Given the description of an element on the screen output the (x, y) to click on. 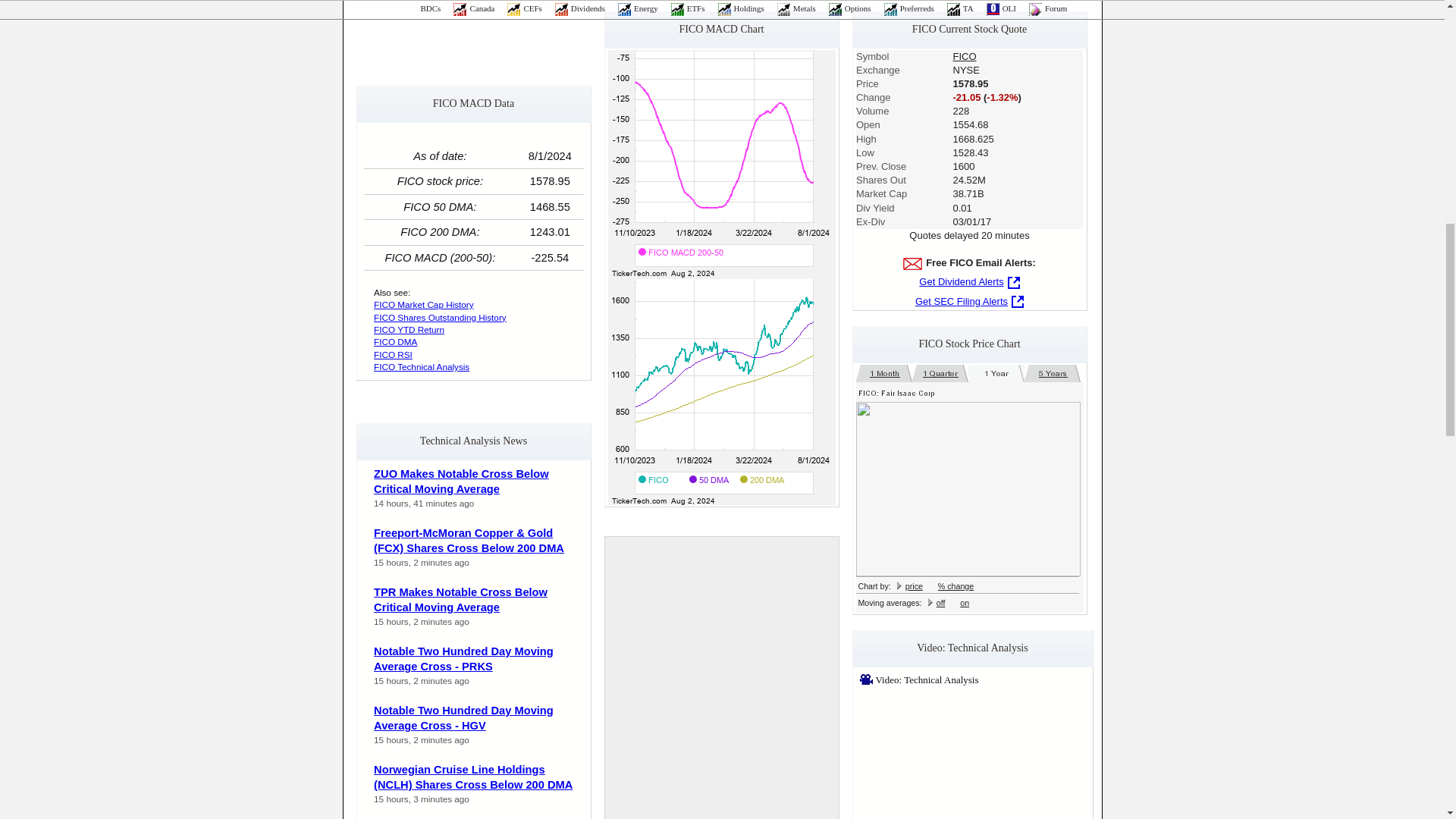
FICO Shares Outstanding History (440, 317)
TPR Makes Notable Cross Below Critical Moving Average (460, 600)
Notable Two Hundred Day Moving Average Cross - PRKS (463, 659)
FICO Technical Analysis (421, 366)
Notable Two Hundred Day Moving Average Cross - HGV (463, 718)
FICO DMA (395, 341)
ZUO Makes Notable Cross Below Critical Moving Average (461, 481)
FICO Market Cap History (424, 304)
FICO RSI (393, 354)
FICO YTD Return (409, 329)
